Given the description of an element on the screen output the (x, y) to click on. 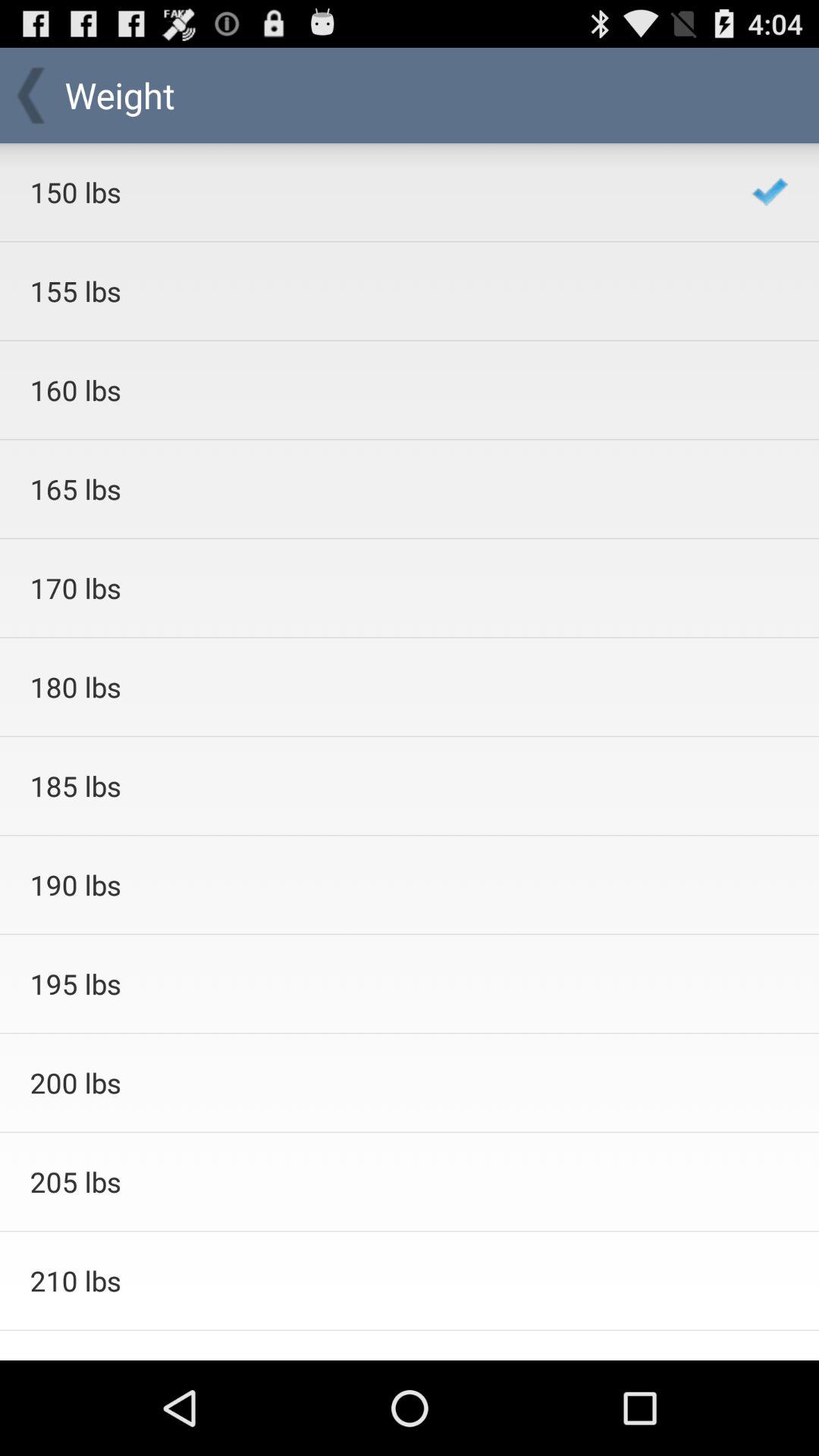
scroll to the 155 lbs item (371, 290)
